Given the description of an element on the screen output the (x, y) to click on. 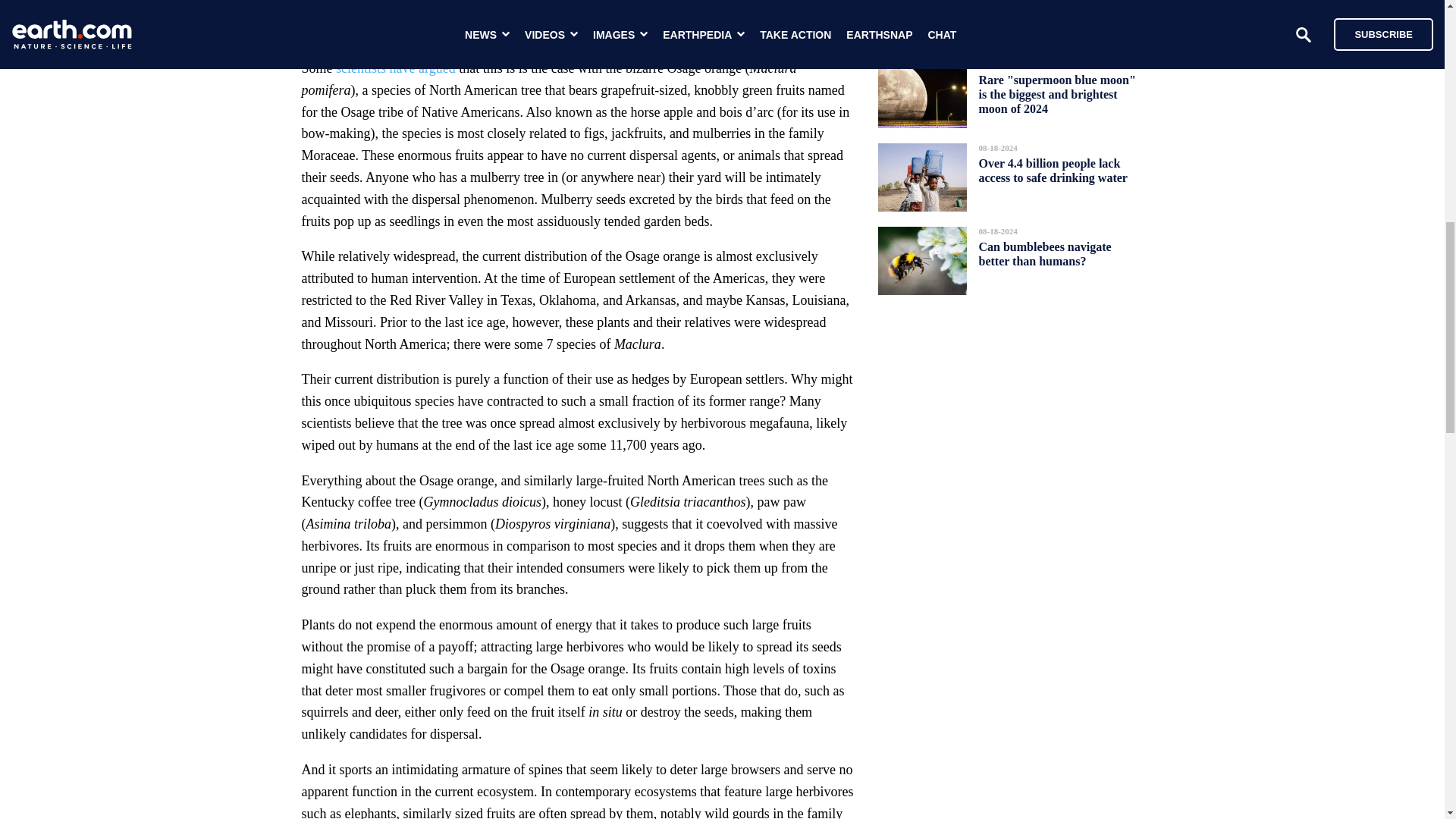
scientists have argued (395, 68)
Human bodies begin breaking down at a very precise age (1056, 12)
